Given the description of an element on the screen output the (x, y) to click on. 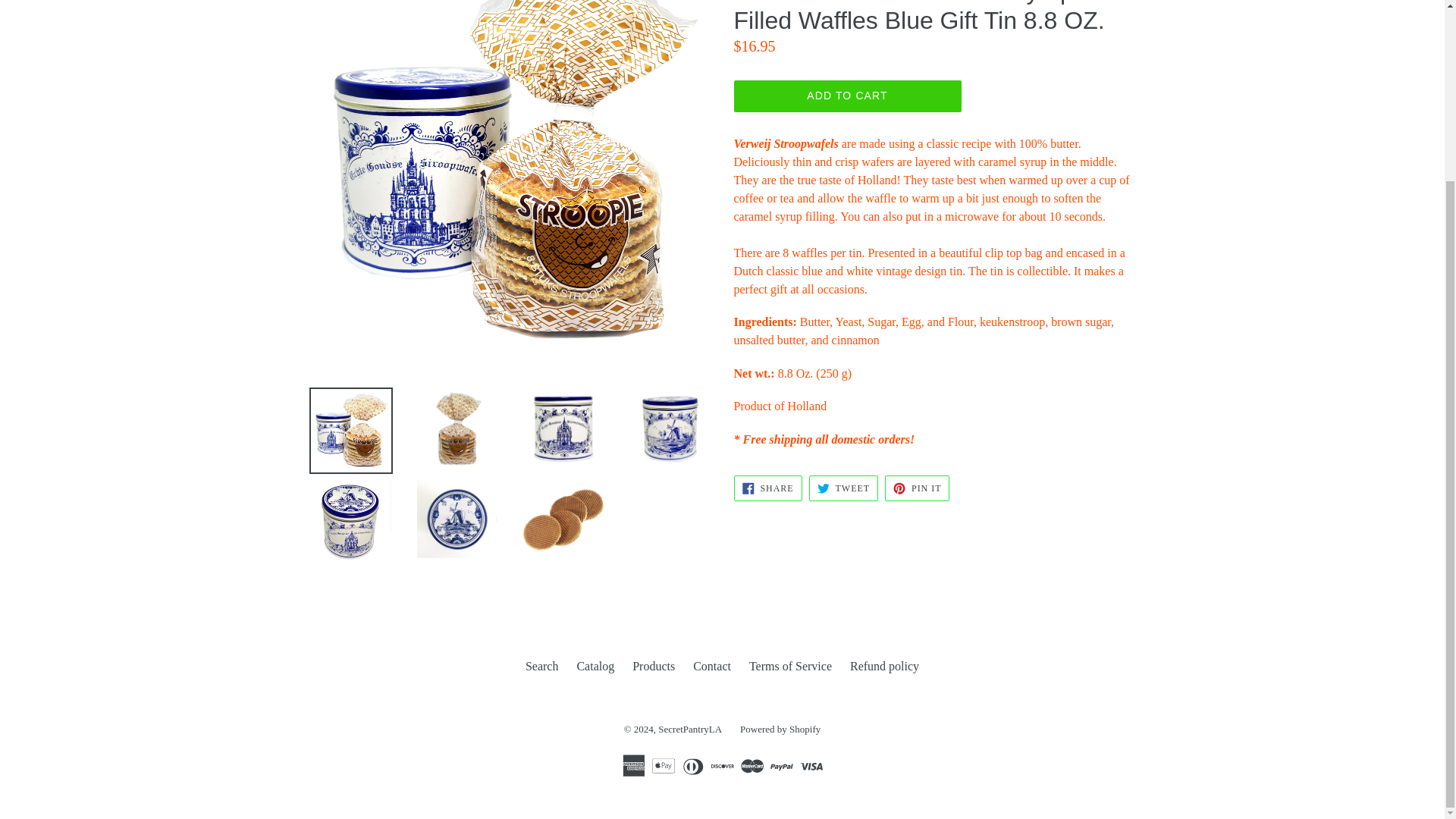
Tweet on Twitter (843, 488)
Pin on Pinterest (917, 488)
Share on Facebook (767, 488)
